Given the description of an element on the screen output the (x, y) to click on. 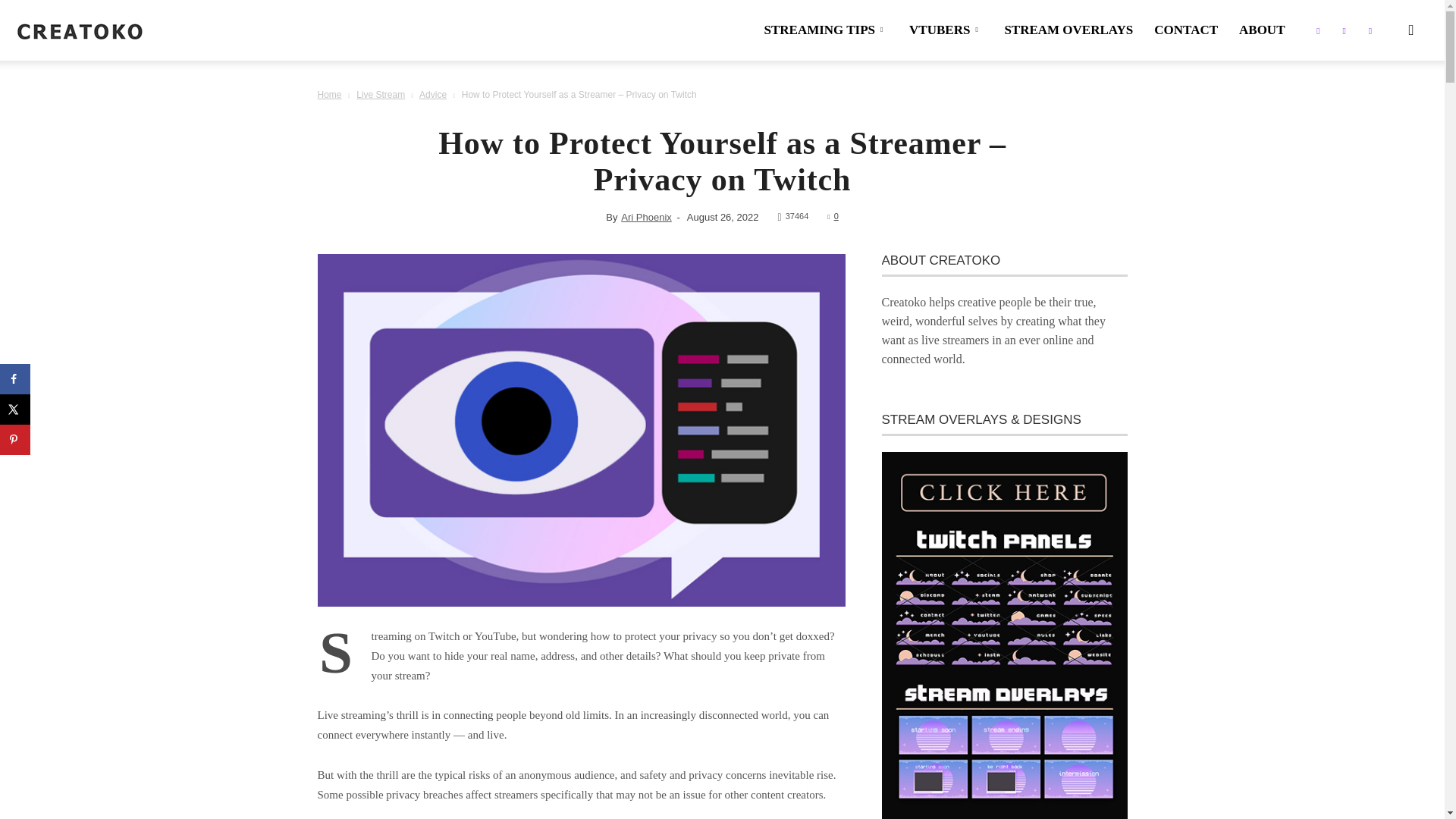
Search (1379, 102)
Creatoko (79, 31)
Creatoko (79, 30)
STREAMING TIPS (825, 30)
